Given the description of an element on the screen output the (x, y) to click on. 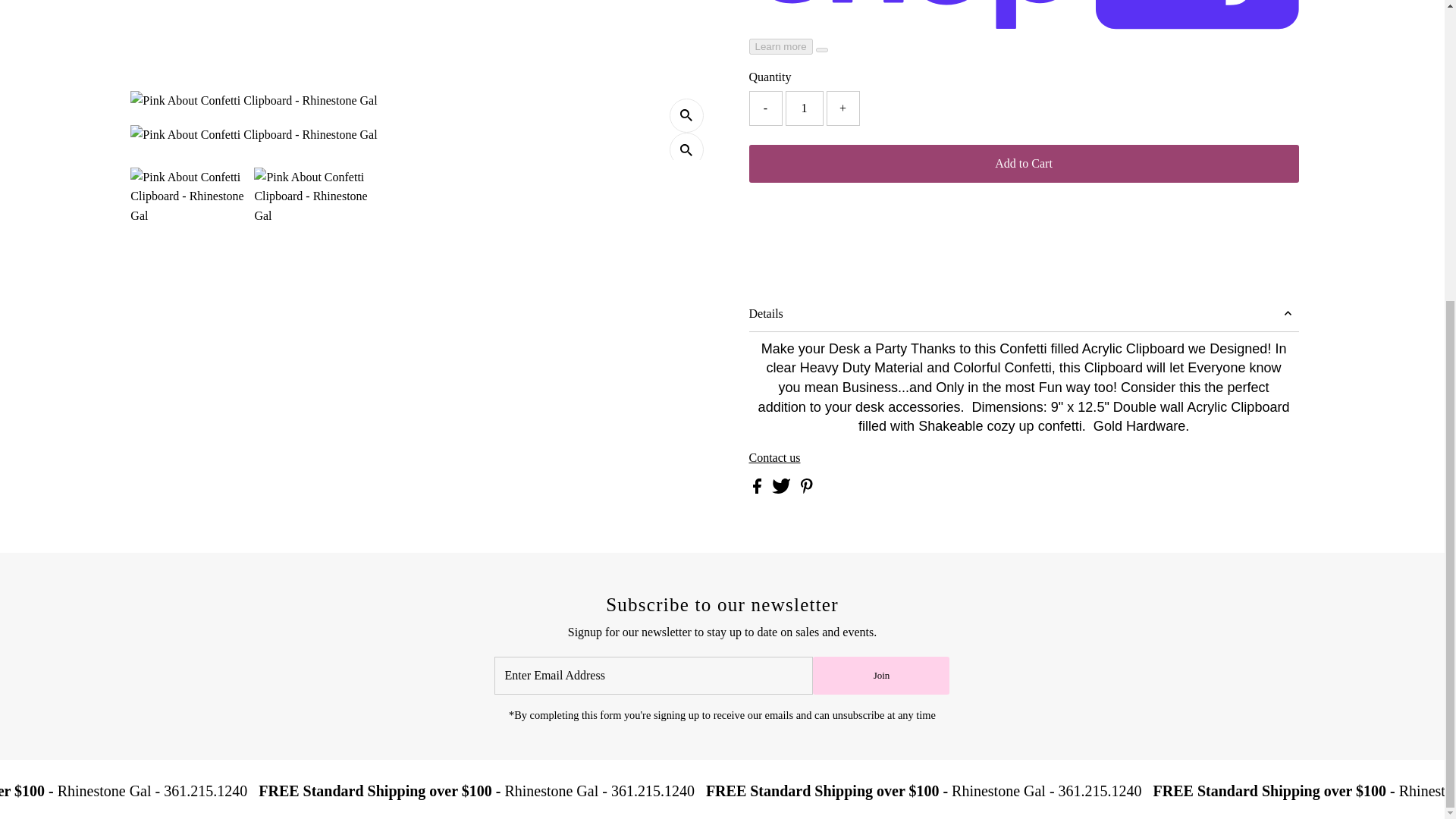
Share on Twitter (782, 489)
Share on Pinterest (806, 489)
1 (805, 108)
Rhinestone Gal - 361.215.1240 (77, 792)
Add to Cart (1023, 163)
